Given the description of an element on the screen output the (x, y) to click on. 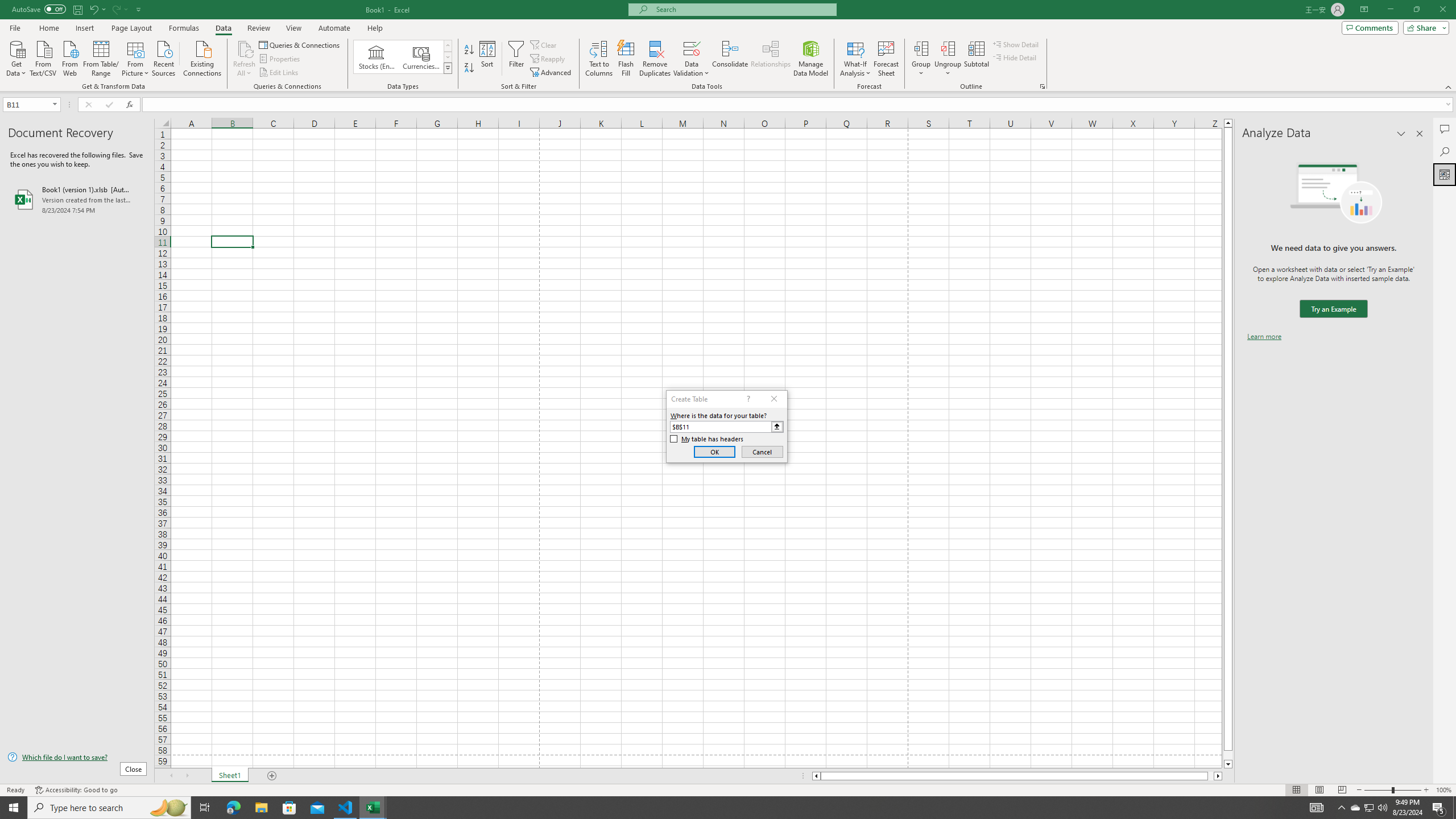
Manage Data Model (810, 58)
From Table/Range (100, 57)
Remove Duplicates (654, 58)
Group and Outline Settings (1042, 85)
Existing Connections (202, 57)
Book1 (version 1).xlsb  [AutoRecovered] (77, 199)
Recent Sources (163, 57)
Forecast Sheet (885, 58)
